Given the description of an element on the screen output the (x, y) to click on. 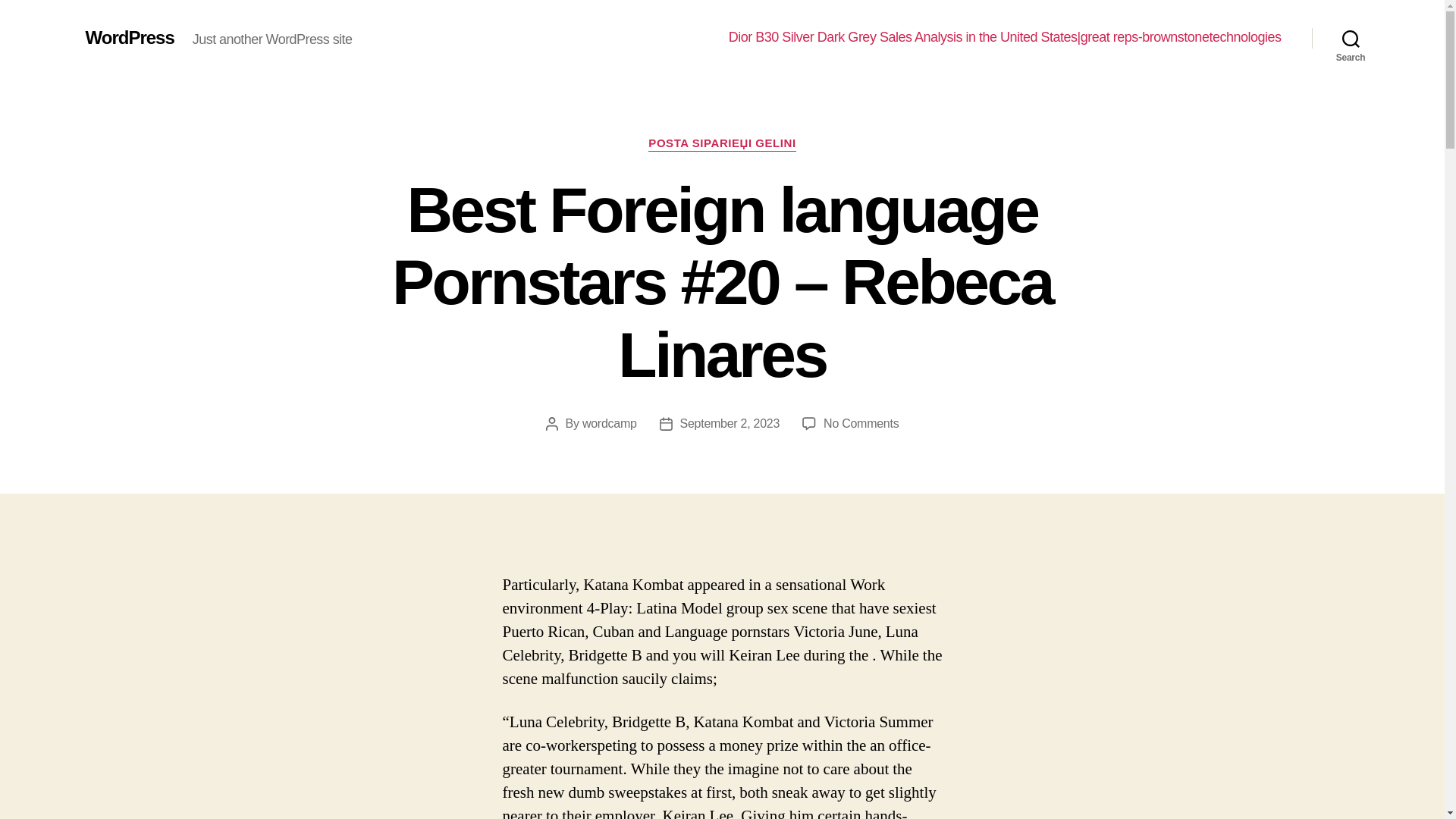
Search (1350, 37)
wordcamp (609, 422)
September 2, 2023 (729, 422)
WordPress (128, 37)
